Given the description of an element on the screen output the (x, y) to click on. 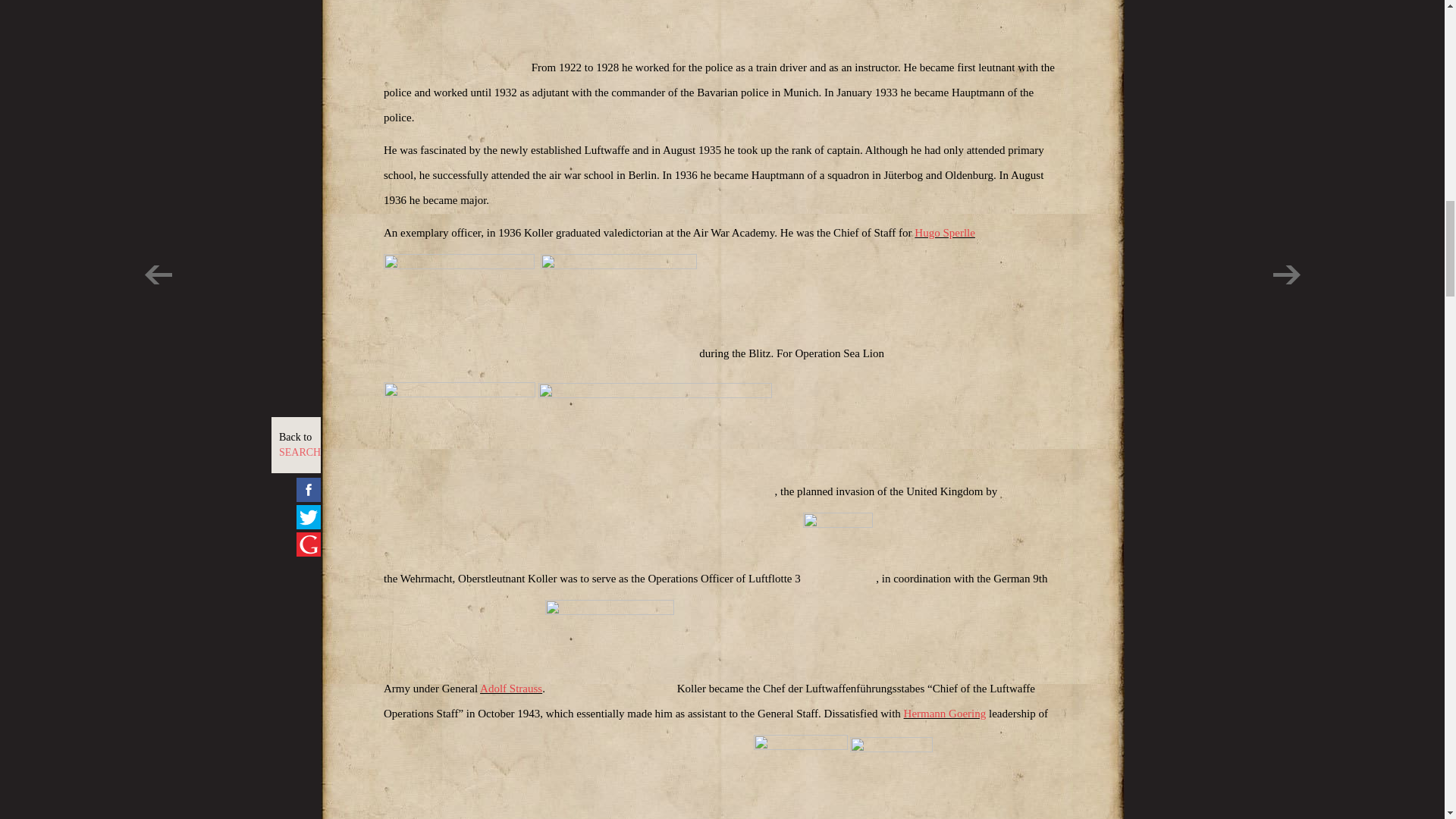
Adolf Strauss (510, 688)
Hugo Sperlle (944, 232)
Hermann Goering (945, 713)
